Given the description of an element on the screen output the (x, y) to click on. 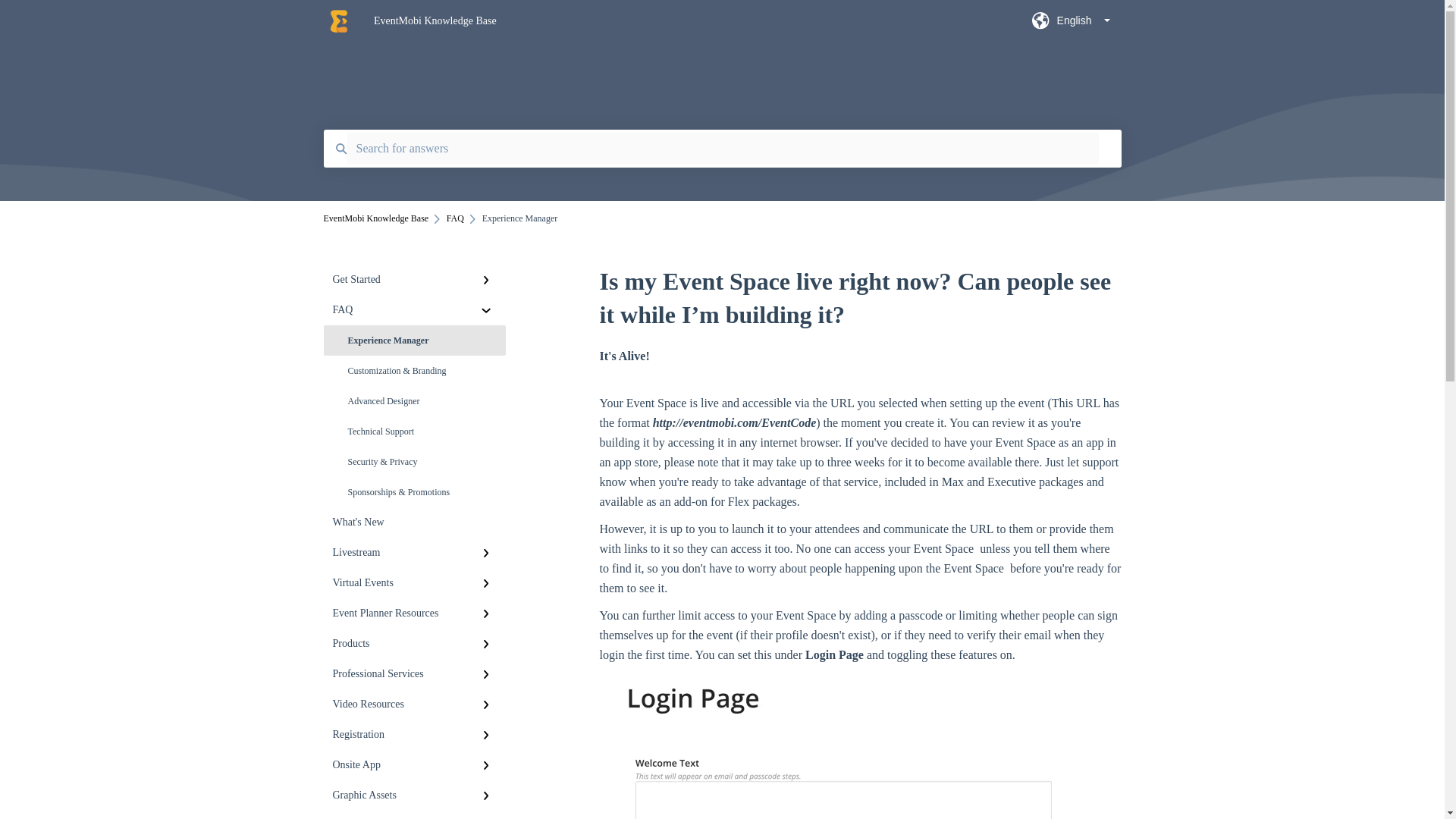
English (1070, 25)
EventMobi Knowledge Base (680, 21)
